Given the description of an element on the screen output the (x, y) to click on. 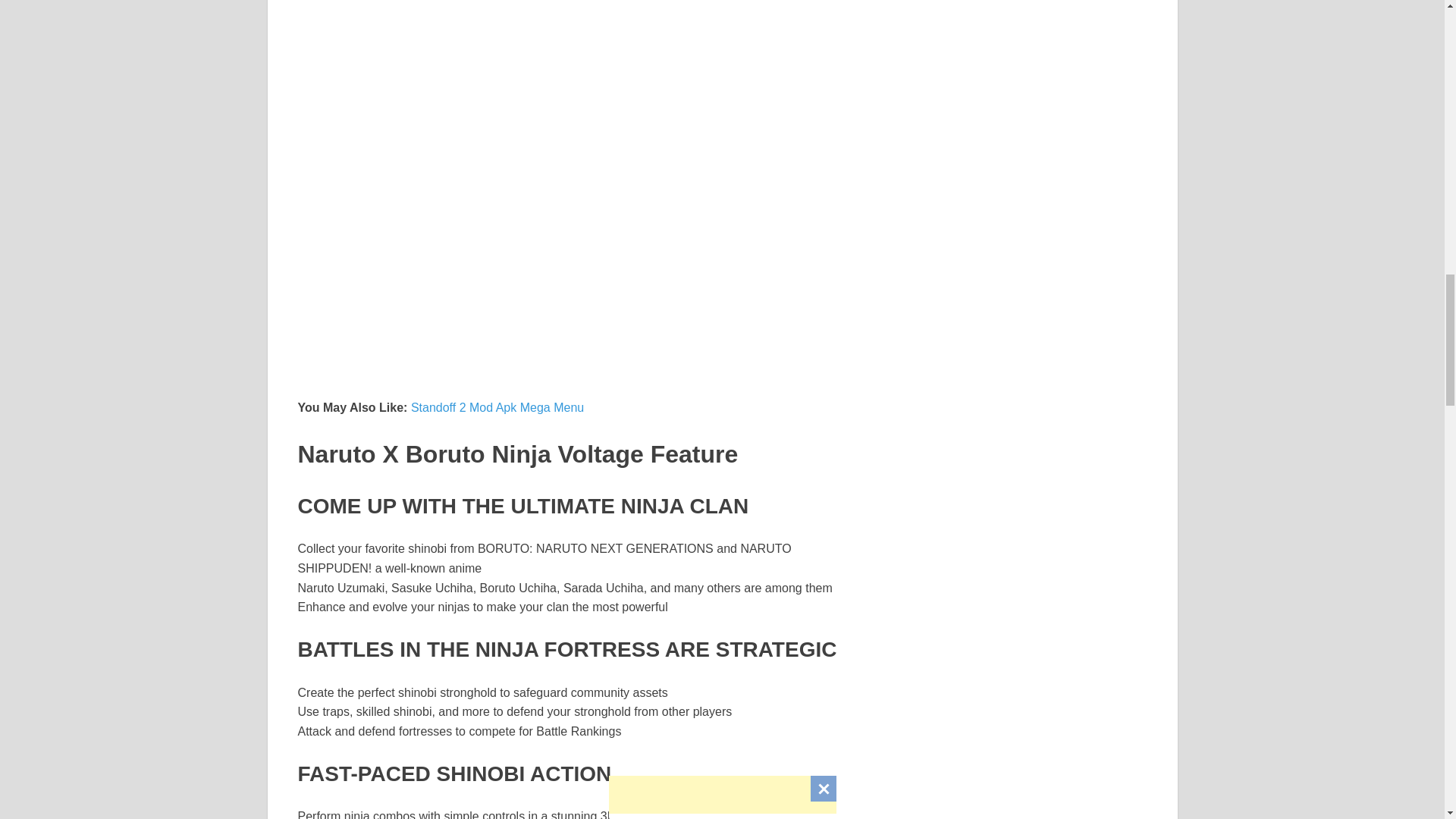
Standoff 2 Mod Apk Mega Menu (496, 407)
